Given the description of an element on the screen output the (x, y) to click on. 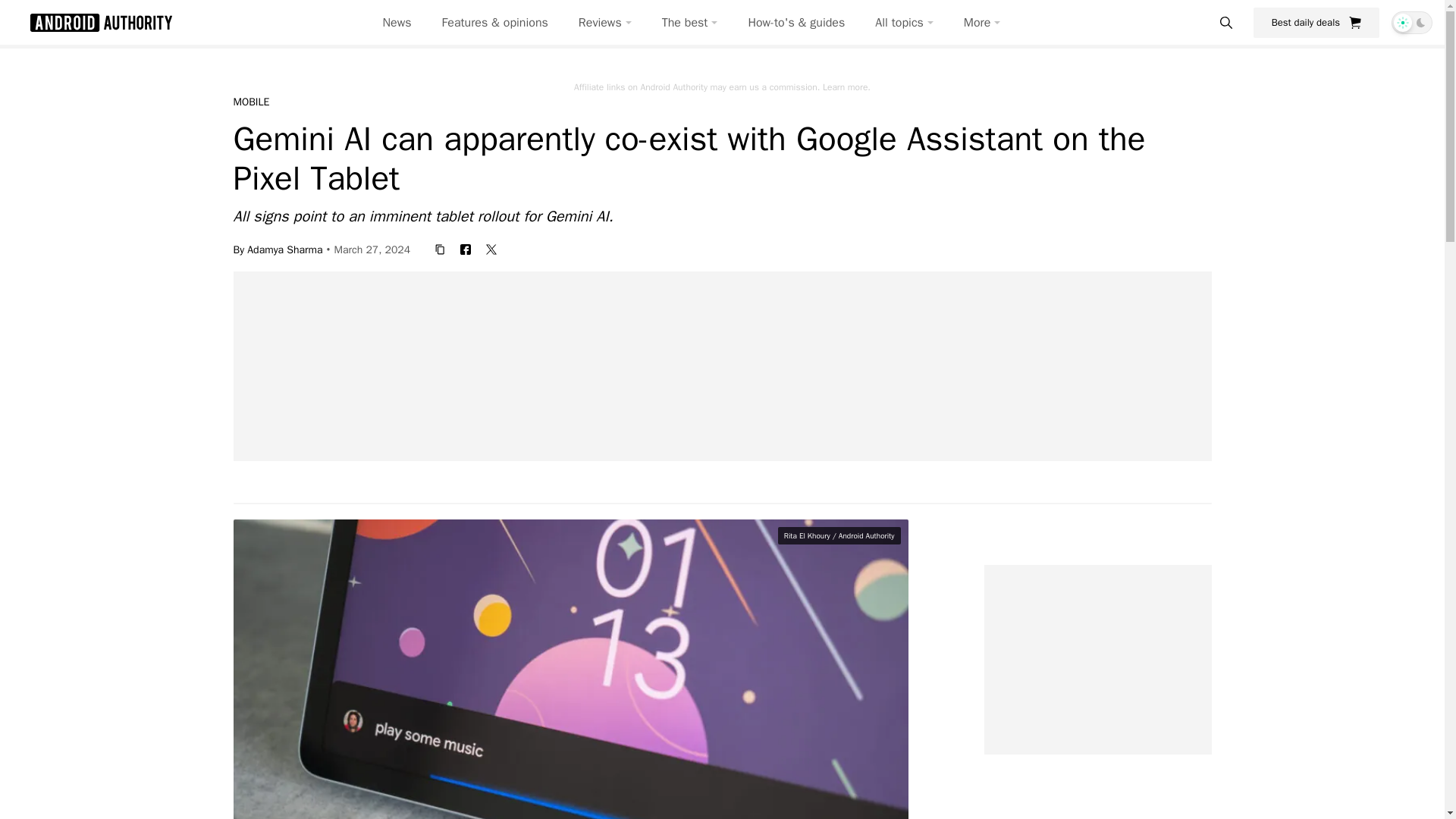
Adamya Sharma (284, 248)
Reviews (604, 22)
MOBILE (250, 101)
twitter (491, 249)
All topics (904, 22)
facebook (465, 249)
The best (689, 22)
Learn more. (846, 86)
Best daily deals (1315, 22)
